Given the description of an element on the screen output the (x, y) to click on. 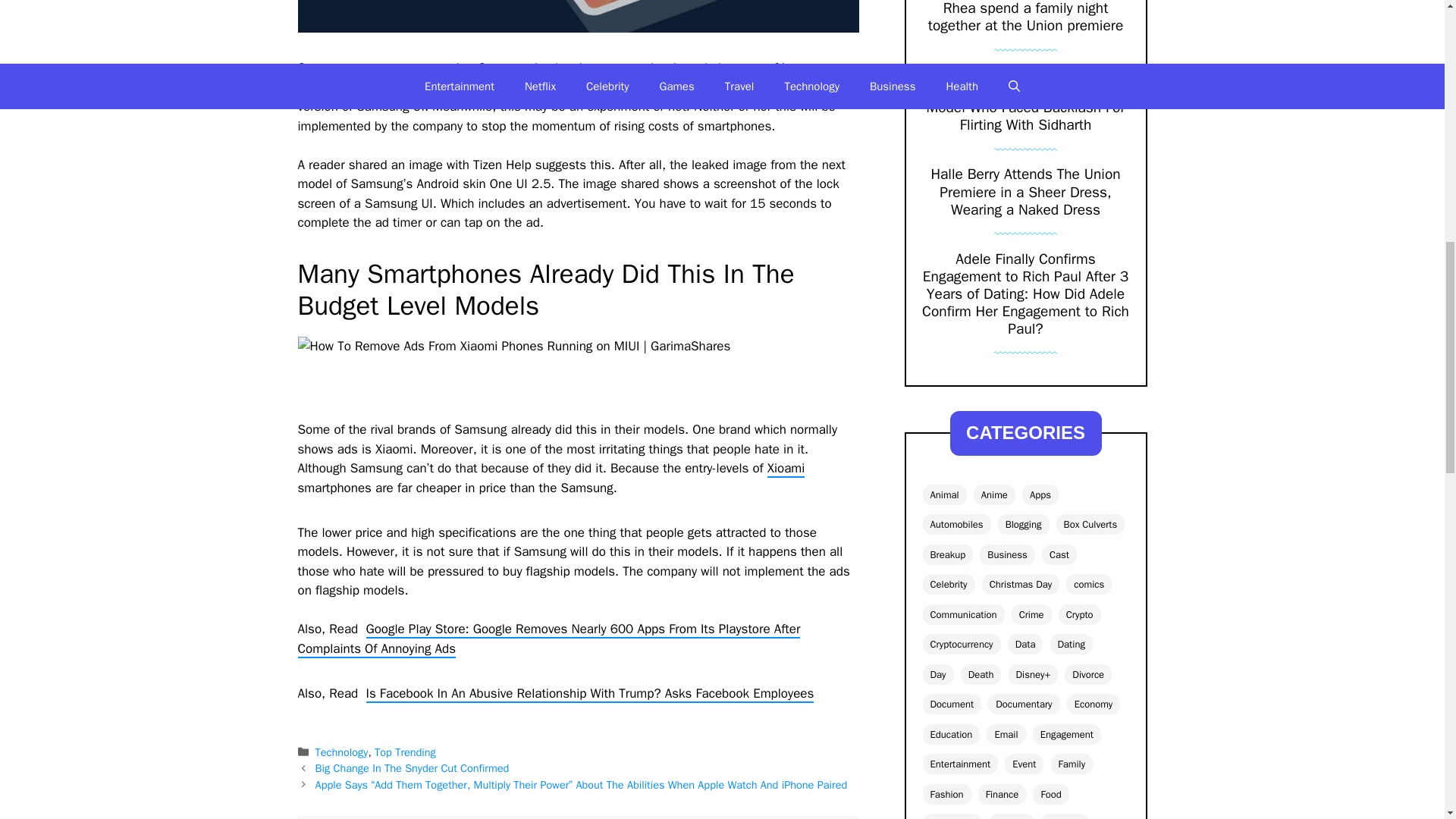
Business (1006, 554)
Top Trending (404, 752)
Celebrity (947, 584)
Big Change In The Snyder Cut Confirmed (412, 767)
Xioami (786, 468)
Blogging (1023, 524)
Anime (994, 494)
